Given the description of an element on the screen output the (x, y) to click on. 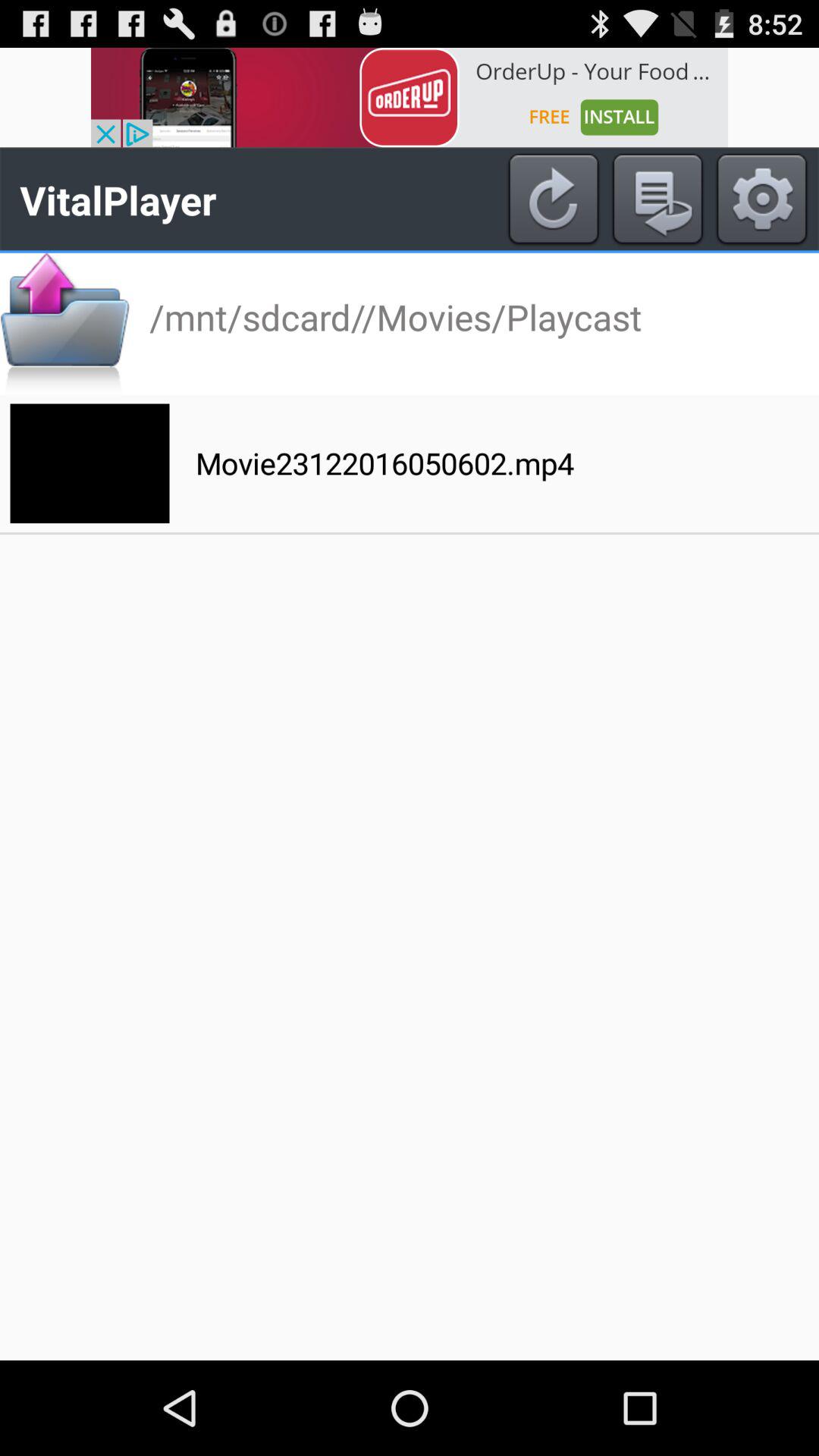
toggle autoplay option (657, 199)
